Given the description of an element on the screen output the (x, y) to click on. 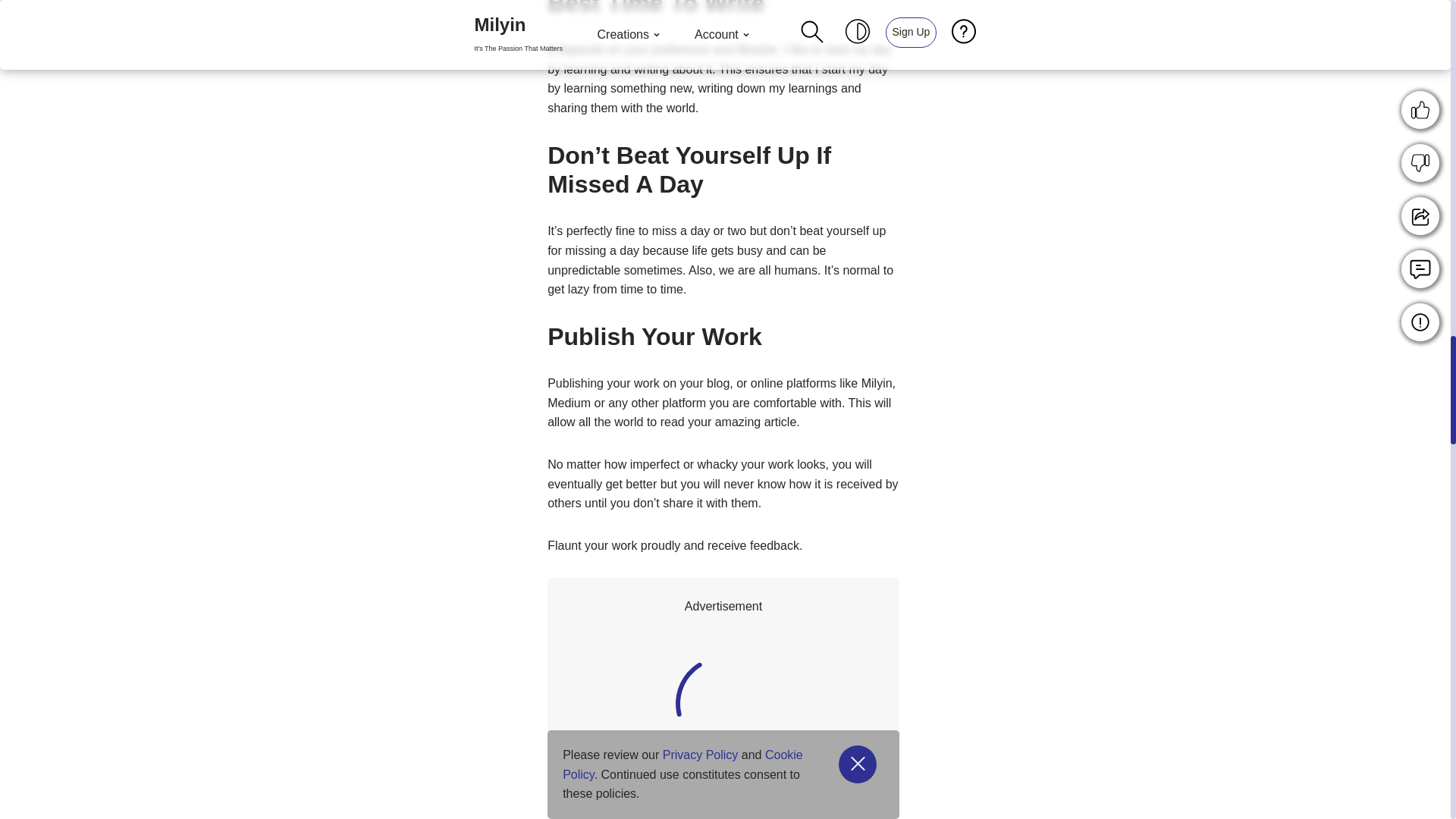
Advertisement (828, 716)
